Given the description of an element on the screen output the (x, y) to click on. 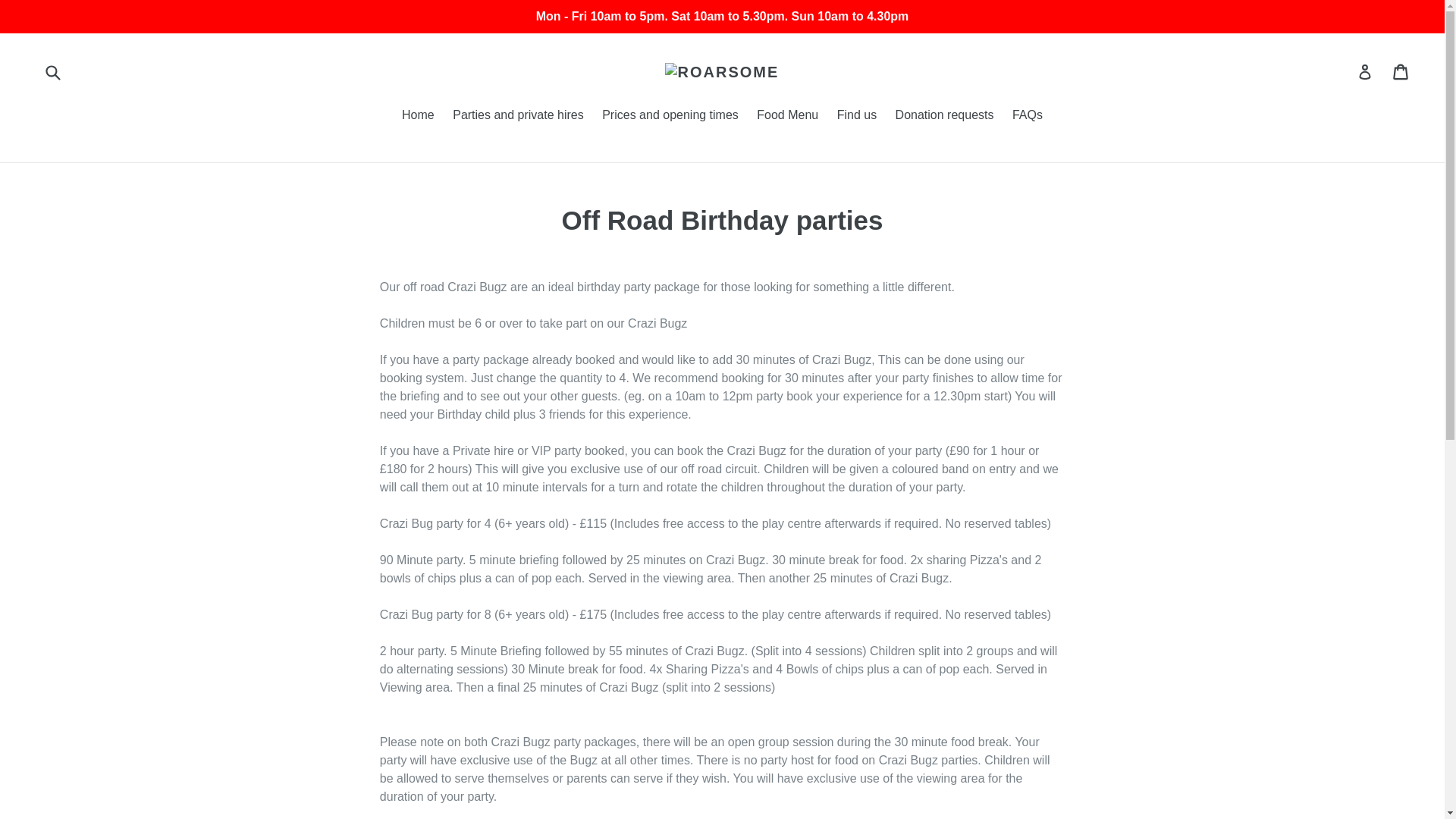
FAQs (1026, 116)
Home (418, 116)
Parties and private hires (518, 116)
Log in (1364, 71)
Cart (1401, 71)
Find us (856, 116)
Donation requests (944, 116)
Prices and opening times (669, 116)
Food Menu (787, 116)
Submit (52, 71)
